Given the description of an element on the screen output the (x, y) to click on. 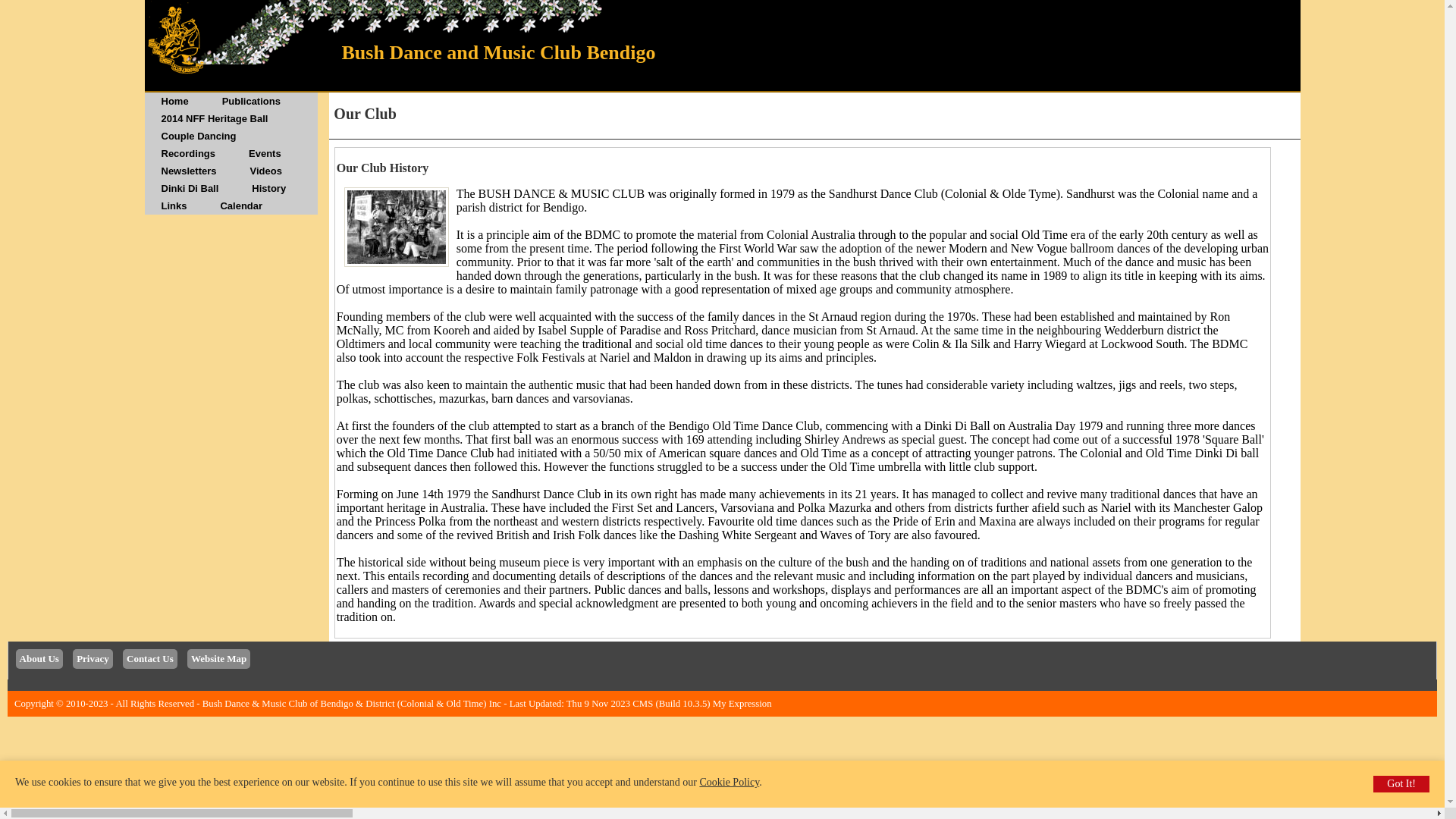
Cookie Policy Element type: text (729, 781)
Dinki Di Ball Element type: text (189, 188)
Videos Element type: text (265, 170)
Privacy Element type: text (92, 658)
Calendar Element type: text (241, 205)
Logo Element type: hover (174, 37)
Contact Us Element type: text (149, 658)
Home Element type: text (174, 100)
Website Map Element type: text (218, 658)
Publications Element type: text (251, 100)
Newsletters Element type: text (188, 170)
My Expression Element type: text (741, 703)
About Us Element type: text (38, 658)
History Element type: text (268, 188)
Bush Dance and Music Club Bendigo Element type: text (721, 46)
Recordings Element type: text (188, 153)
Links Element type: text (173, 205)
2014 NFF Heritage Ball Element type: text (214, 118)
Couple Dancing Element type: text (198, 135)
Events Element type: text (265, 153)
